Given the description of an element on the screen output the (x, y) to click on. 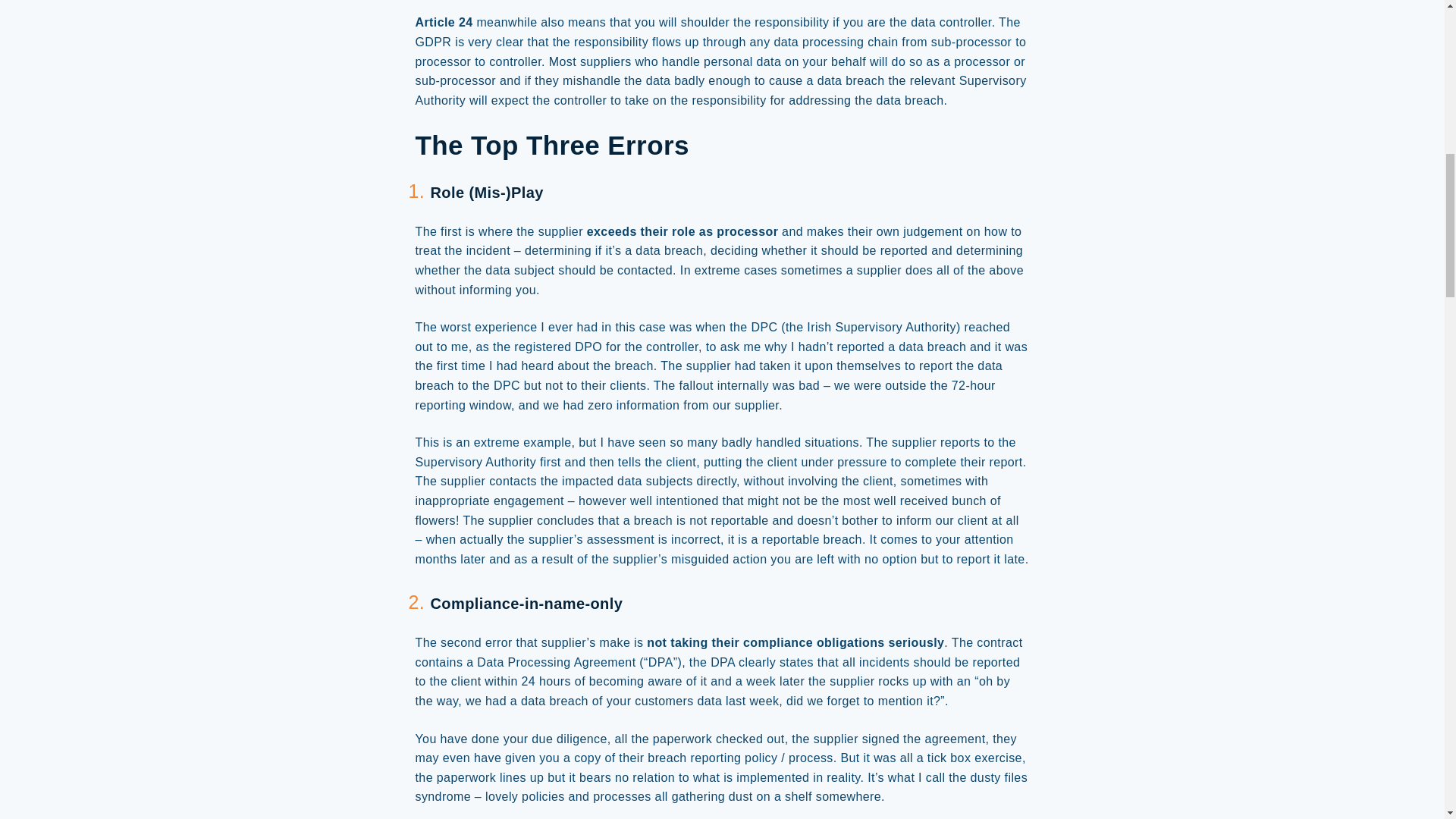
Scroll to top (1414, 15)
